Given the description of an element on the screen output the (x, y) to click on. 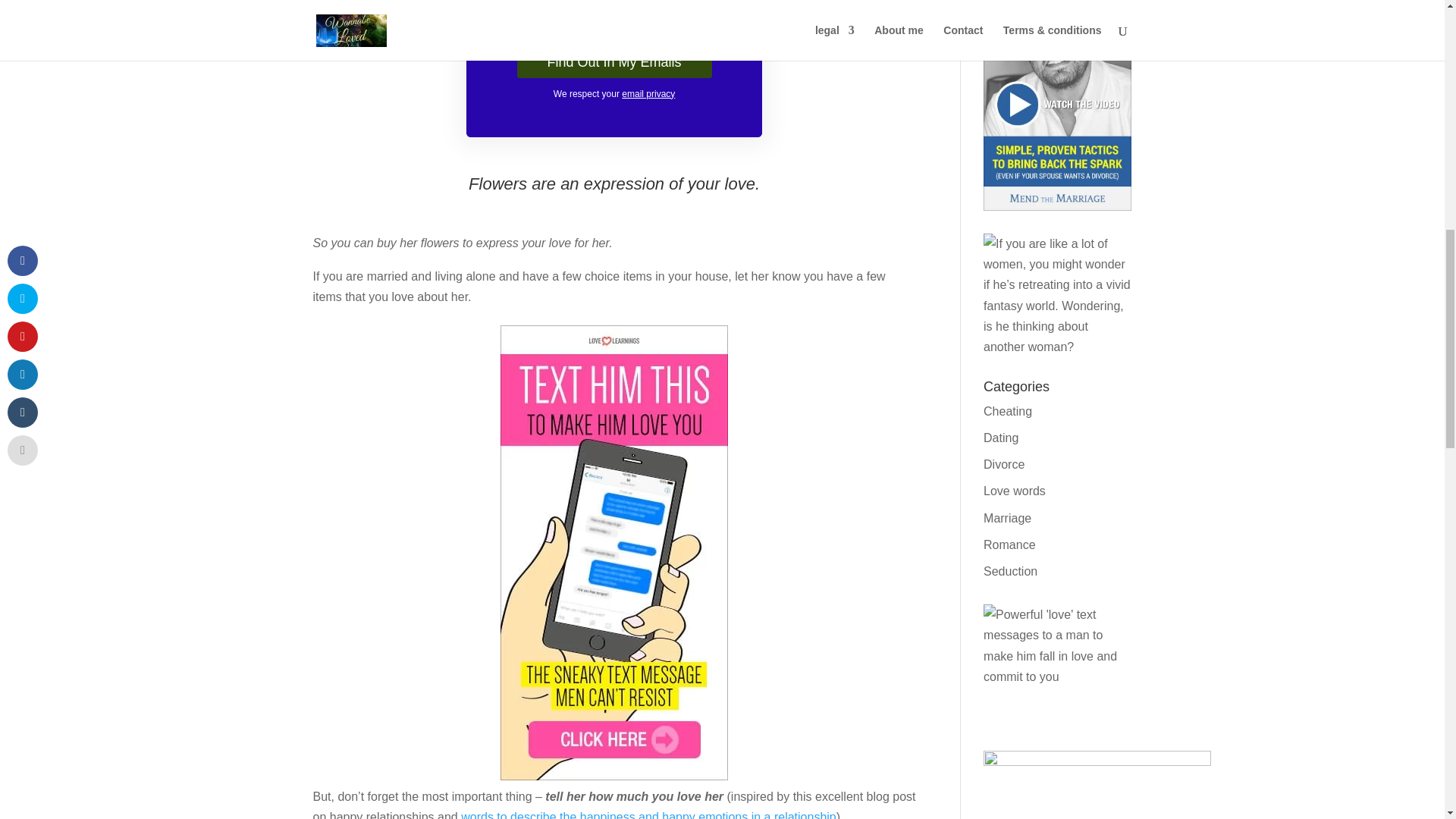
Find Out In My Emails (613, 61)
Find Out In My Emails (613, 61)
email privacy (648, 93)
Privacy Policy (648, 93)
